Given the description of an element on the screen output the (x, y) to click on. 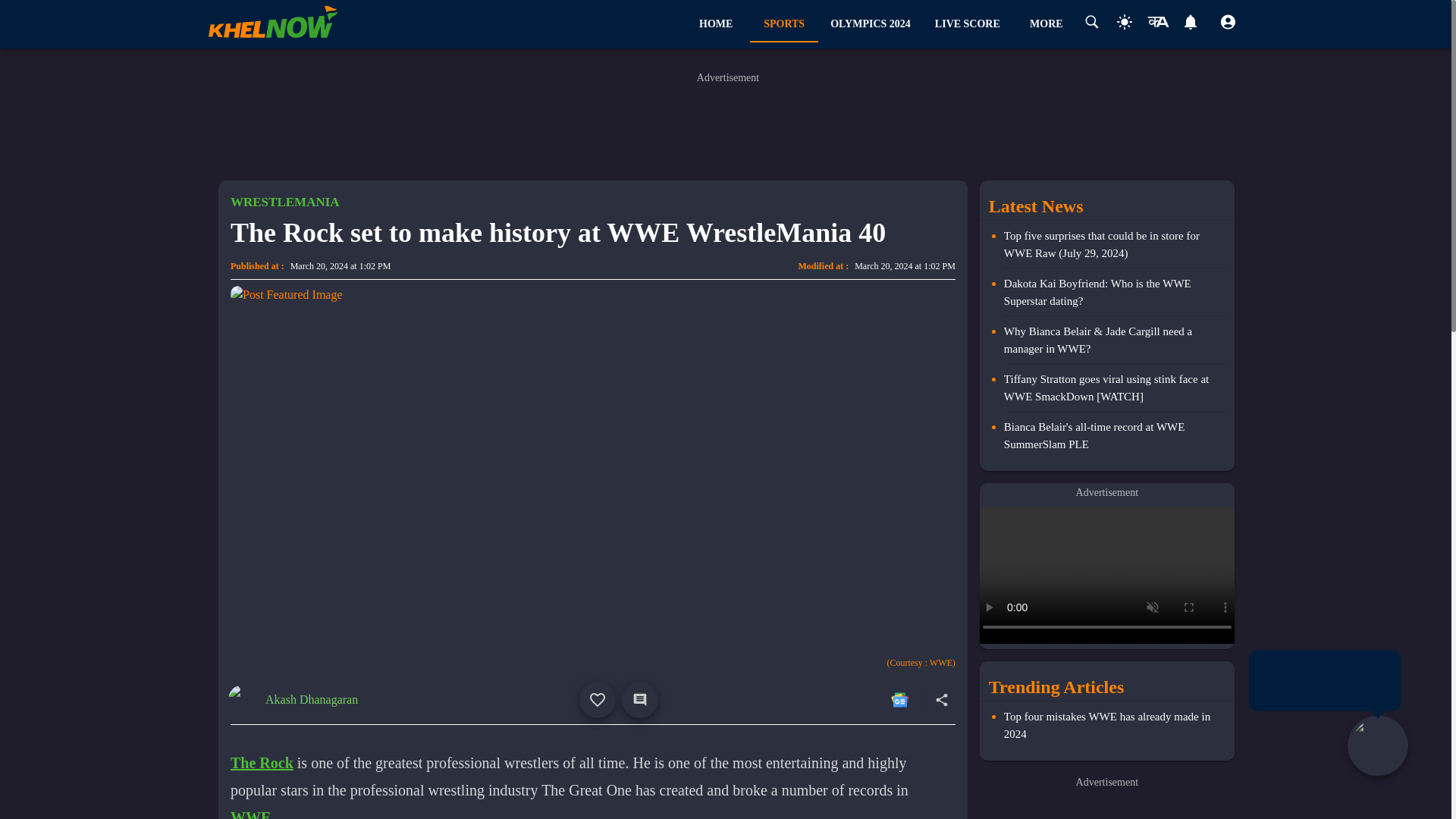
LIVE SCORE (967, 23)
Top four mistakes WWE has already made in 2024 (1116, 725)
Dakota Kai Boyfriend: Who is the WWE Superstar dating? (1116, 295)
SPORTS (783, 23)
OLYMPICS 2024 (870, 23)
global-desktop-top-banner-ad (727, 124)
The Rock (880, 23)
WWE (262, 761)
WRESTLEMANIA (250, 813)
Bianca Belair's all-time record at WWE SummerSlam PLE (284, 202)
MORE (1116, 435)
Akash Dhanagaran (1045, 23)
HOME (311, 698)
